Given the description of an element on the screen output the (x, y) to click on. 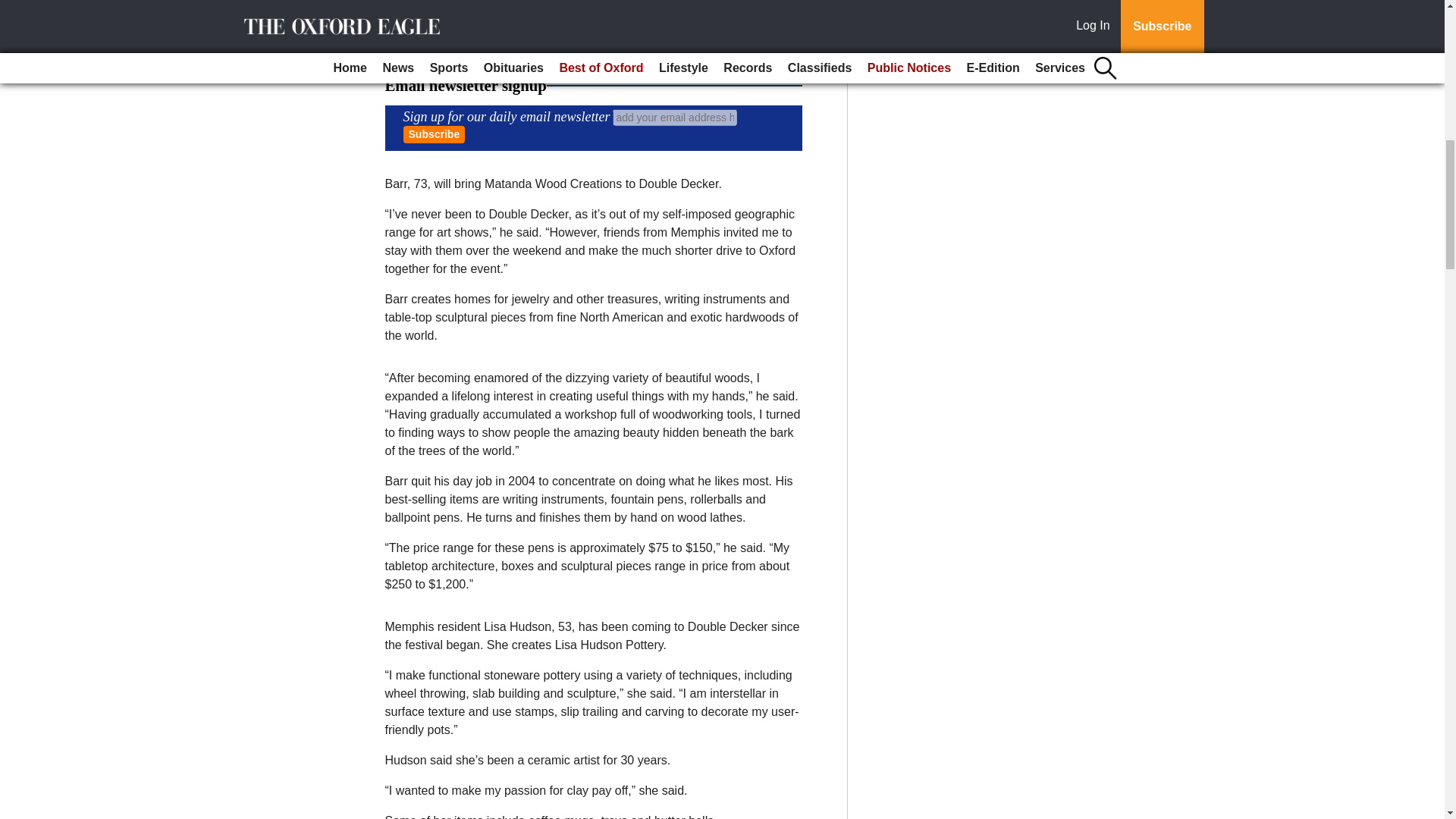
Subscribe (434, 134)
Subscribe (434, 134)
